Given the description of an element on the screen output the (x, y) to click on. 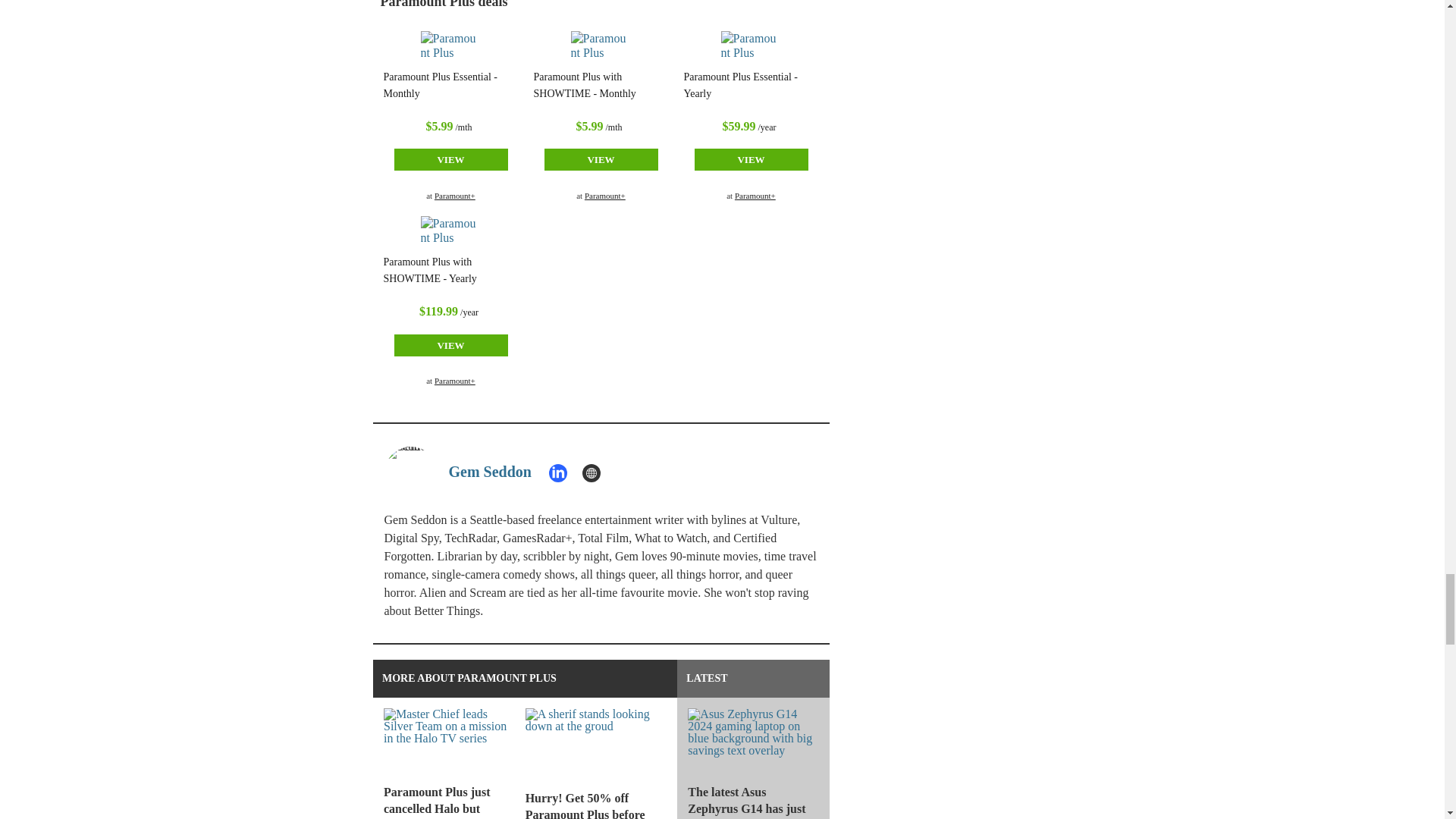
Paramount Plus (450, 231)
Paramount Plus (600, 46)
Paramount Plus (450, 46)
Paramount Plus (750, 46)
